Given the description of an element on the screen output the (x, y) to click on. 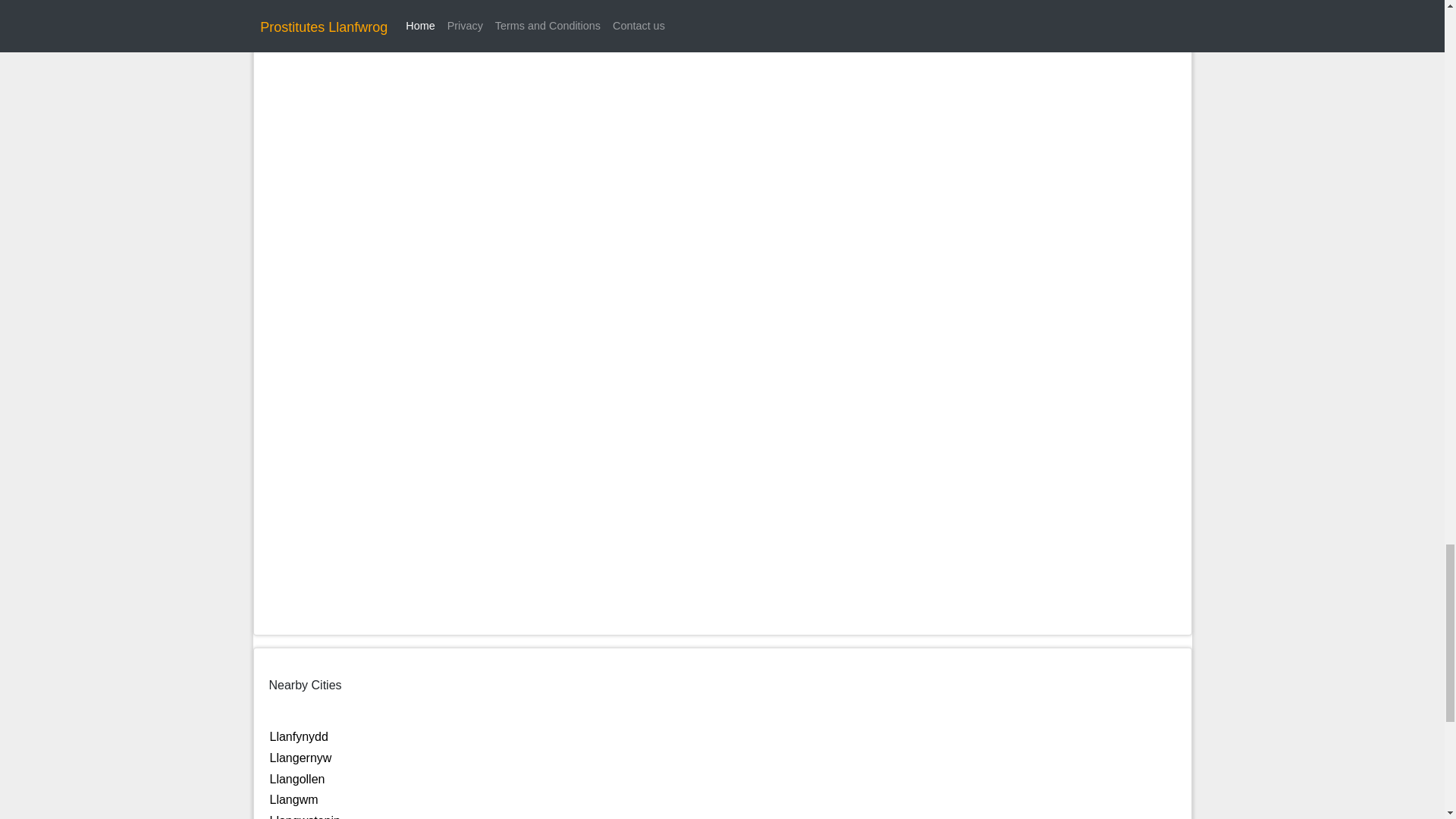
Llangwstenin (304, 816)
Llangernyw (300, 757)
Llangollen (296, 779)
Llanfynydd (299, 736)
Llangwm (293, 799)
